Given the description of an element on the screen output the (x, y) to click on. 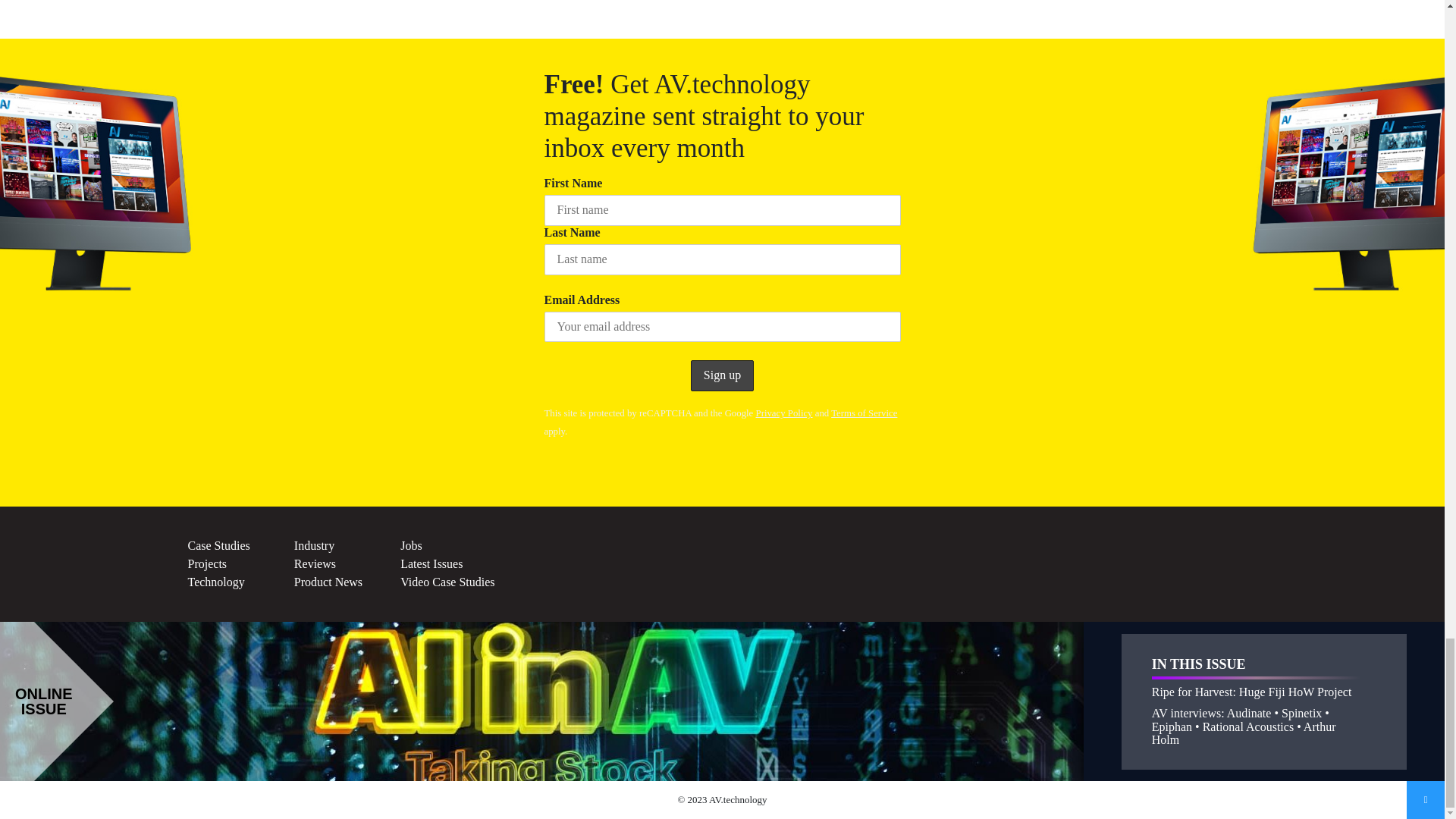
Sign up (722, 375)
